Given the description of an element on the screen output the (x, y) to click on. 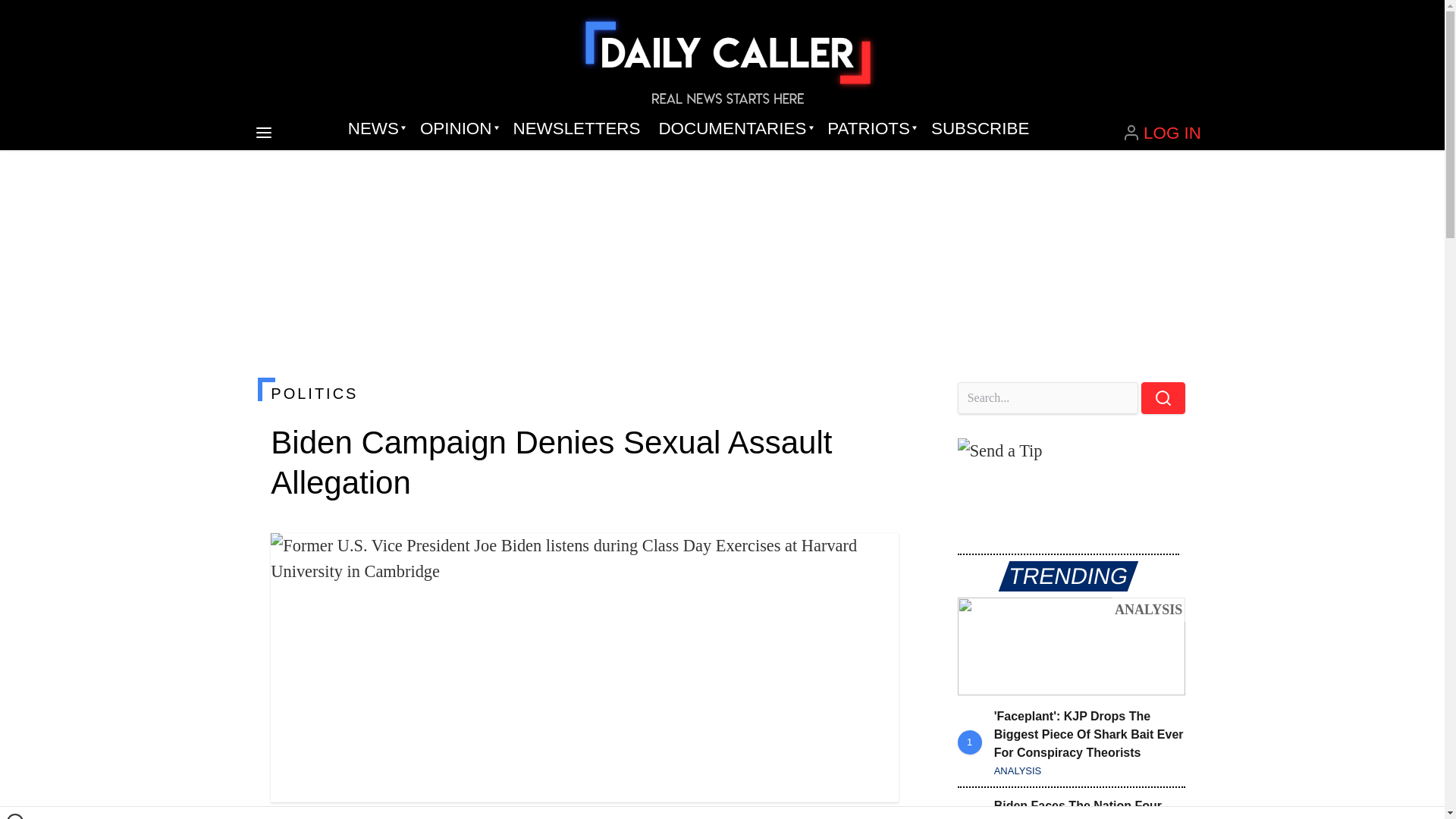
DOCUMENTARIES (733, 128)
SUBSCRIBE (979, 128)
NEWS (374, 128)
Close window (14, 816)
Toggle fullscreen (874, 556)
POLITICS (584, 393)
NEWSLETTERS (576, 128)
OPINION (456, 128)
PATRIOTS (869, 128)
